Given the description of an element on the screen output the (x, y) to click on. 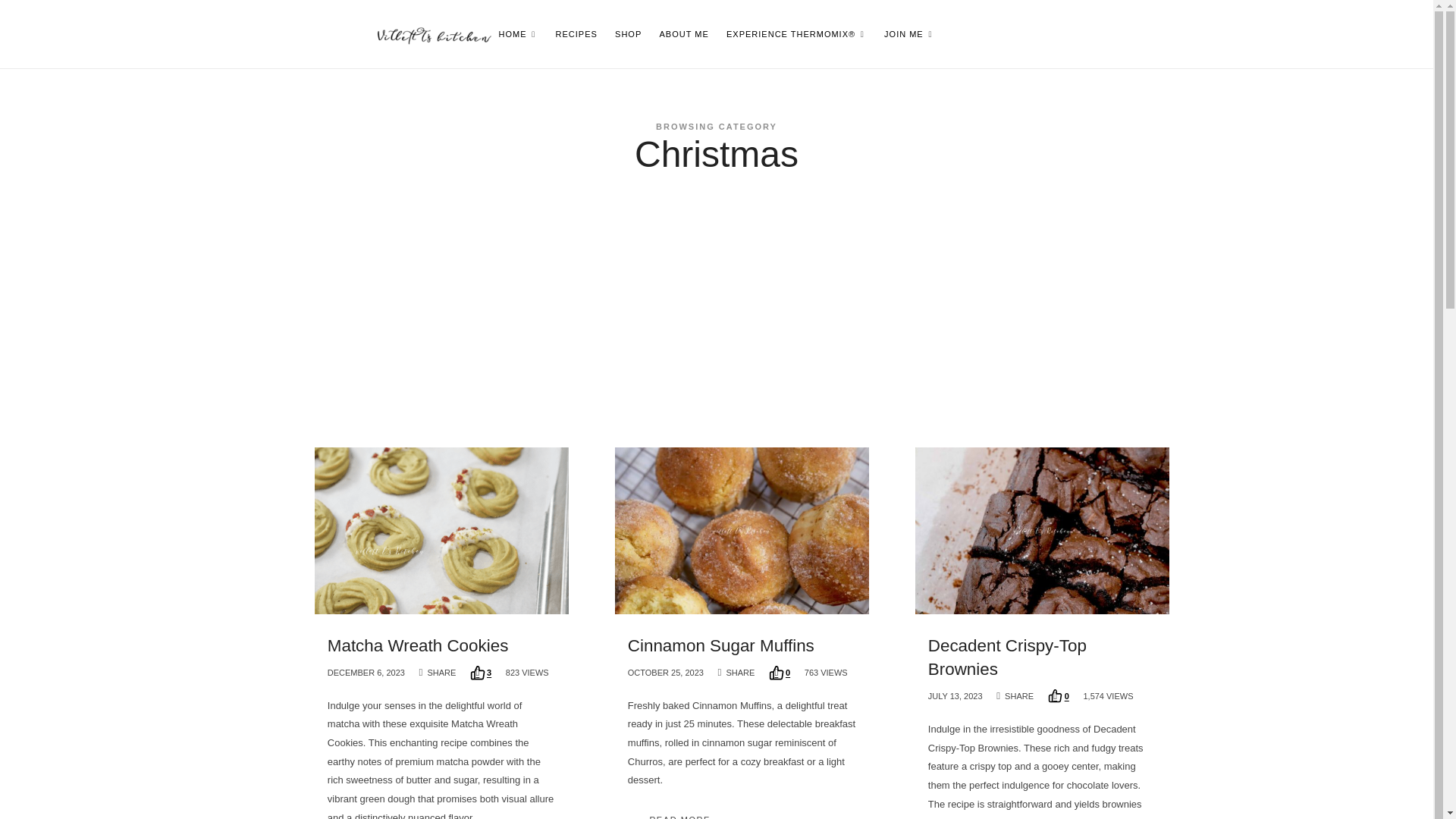
Recommend this (779, 672)
HOME (518, 33)
Recommend this (481, 672)
JOIN ME (908, 33)
RECIPES (576, 33)
View your shopping cart (1086, 33)
Matcha Wreath Cookies (417, 644)
SHOP (628, 33)
ABOUT ME (684, 33)
Villett T.'s Kitchen (431, 33)
